Given the description of an element on the screen output the (x, y) to click on. 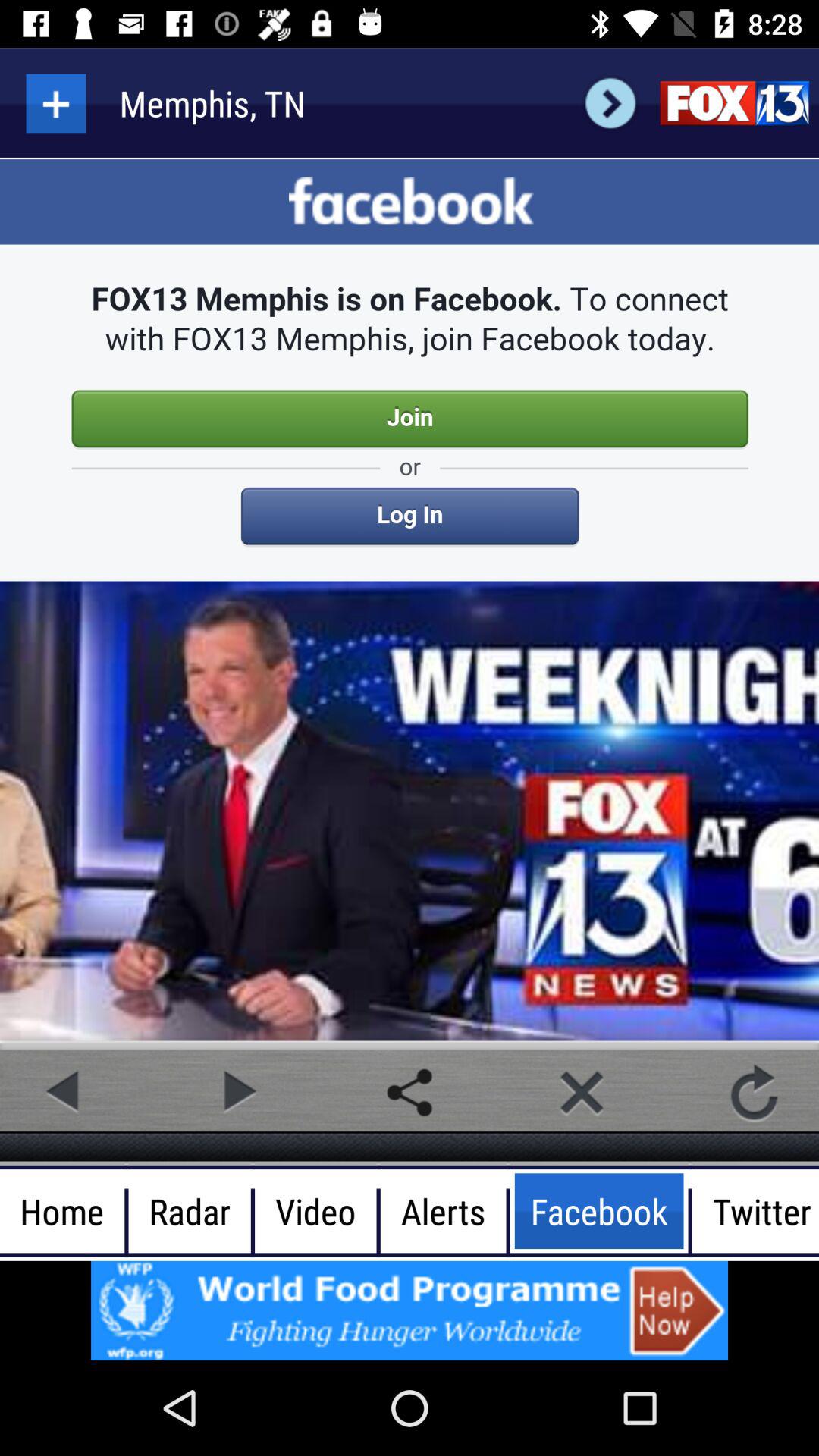
know about the advertisement (409, 1310)
